Given the description of an element on the screen output the (x, y) to click on. 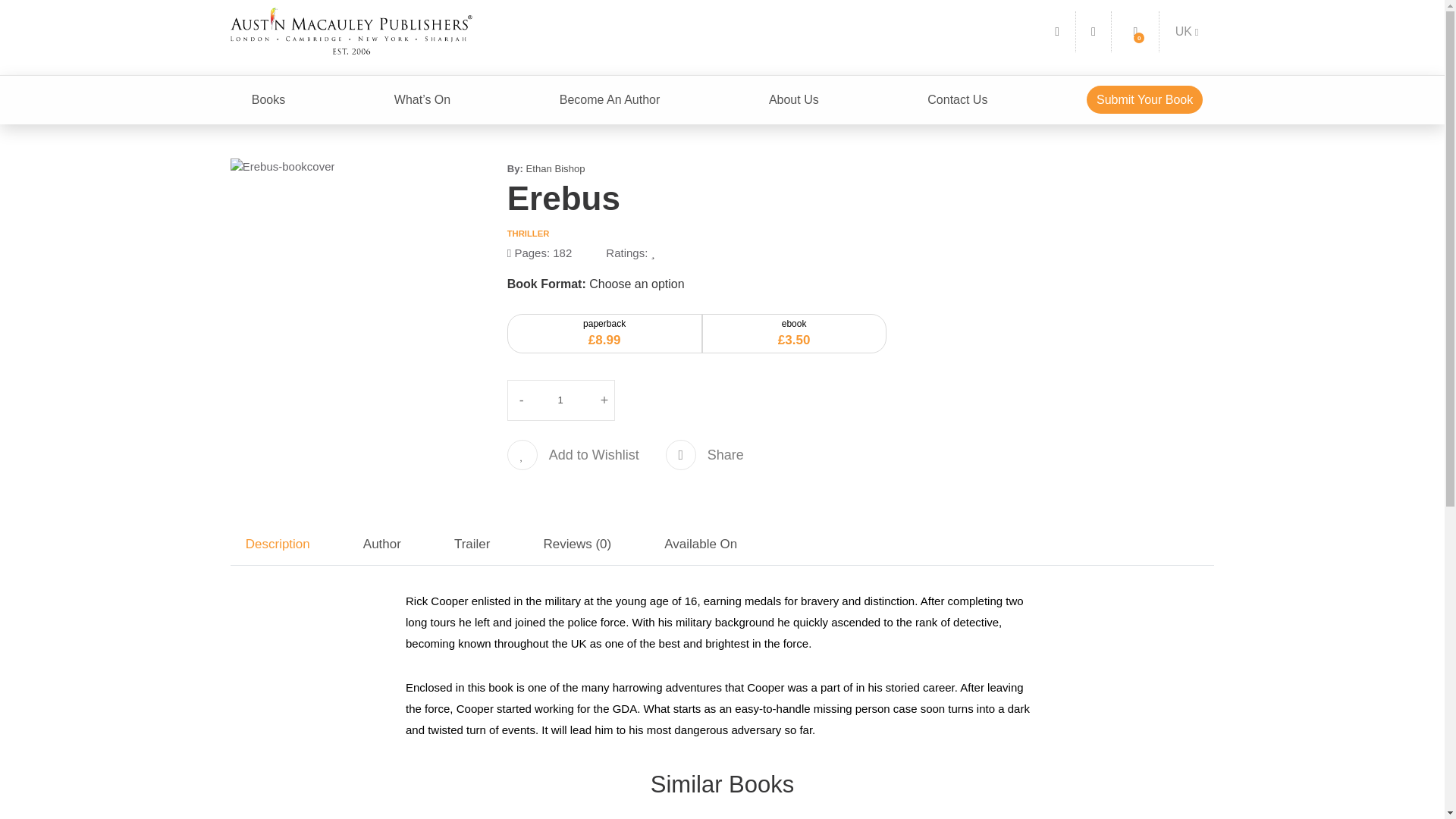
1 (560, 400)
Branch (1187, 31)
Books (268, 99)
Cart (1134, 31)
UK (1187, 31)
Search (1056, 31)
Member Login (1093, 31)
